Given the description of an element on the screen output the (x, y) to click on. 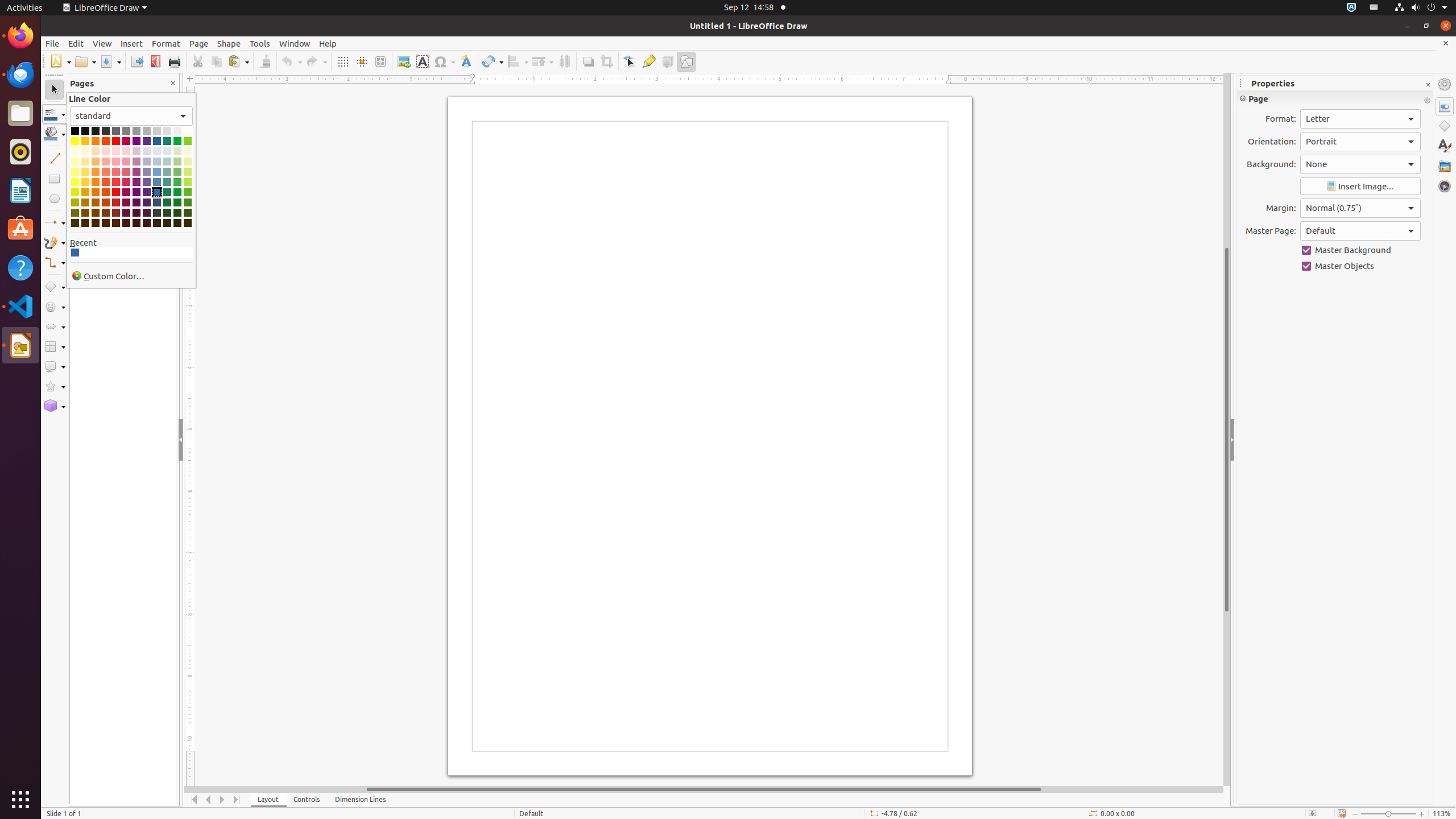
Styles Element type: radio-button (1444, 146)
Dark Lime 1 Element type: list-item (187, 192)
Dark Blue 4 Element type: list-item (156, 222)
Light Magenta 3 Element type: list-item (126, 161)
Light Blue 4 Element type: list-item (156, 151)
